Given the description of an element on the screen output the (x, y) to click on. 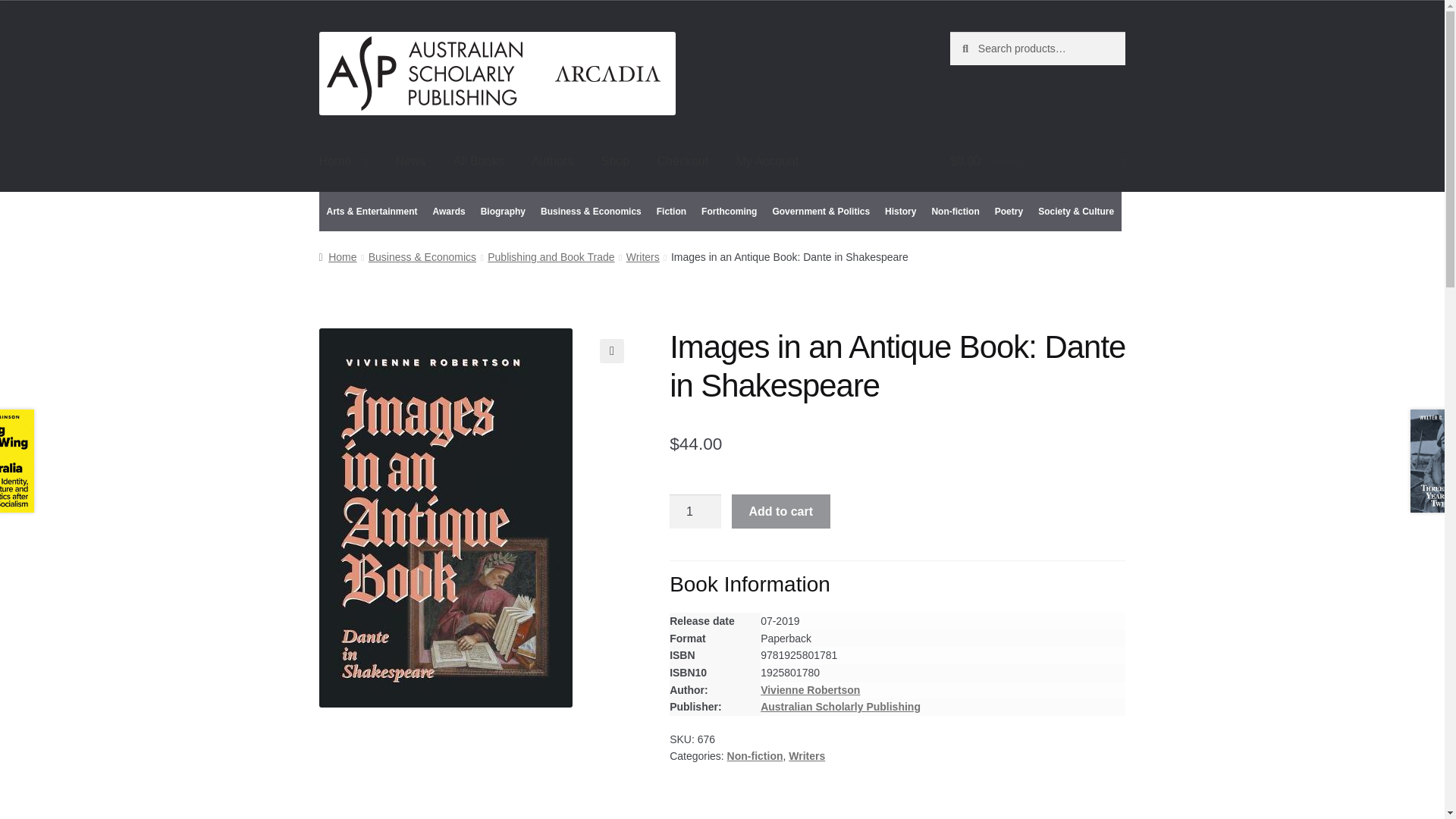
Home (343, 161)
My Account (766, 161)
Authors (552, 161)
1 (694, 511)
All Books (478, 161)
News (411, 161)
Checkout (682, 161)
View your shopping cart (1037, 161)
